Given the description of an element on the screen output the (x, y) to click on. 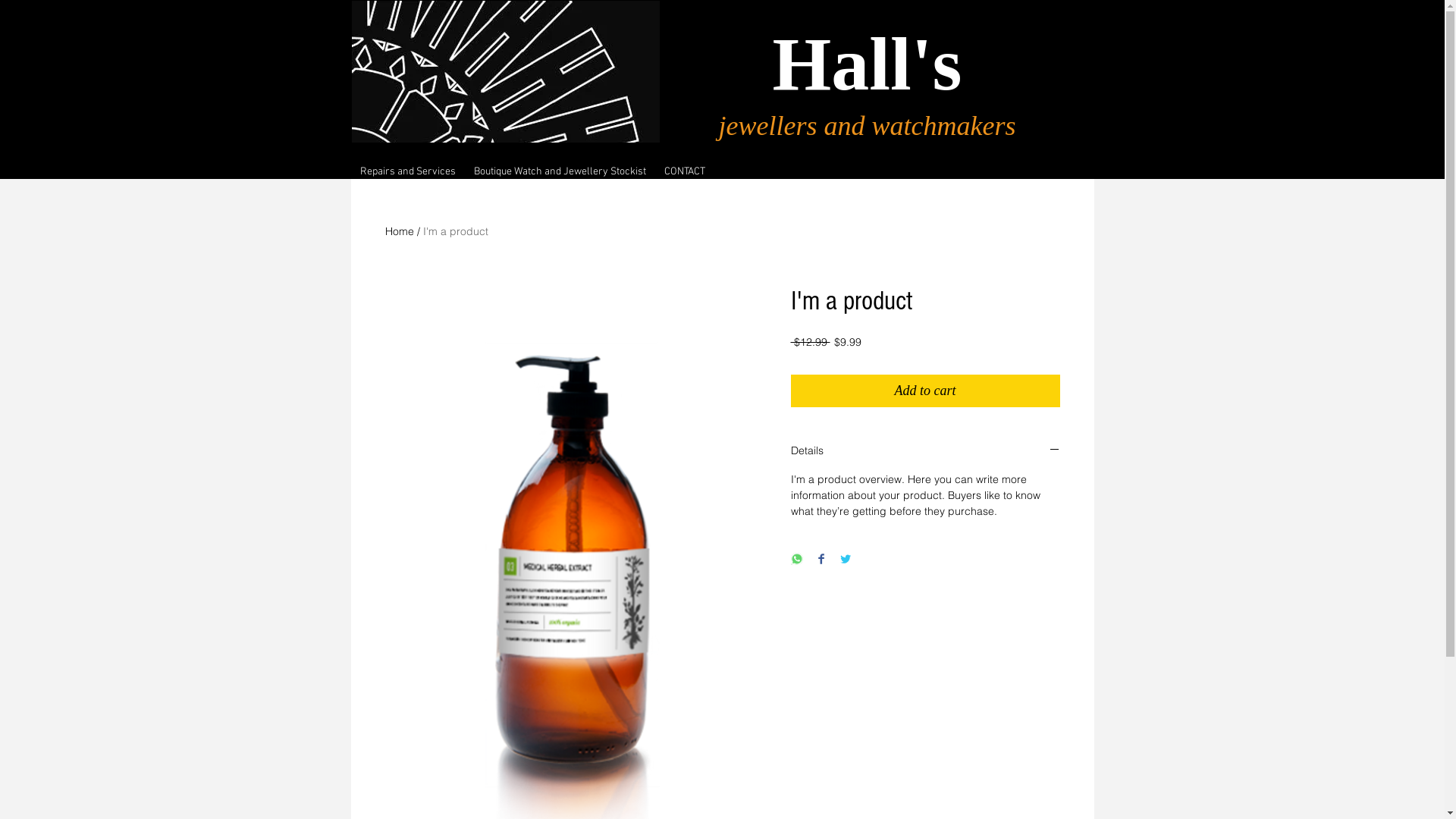
Details Element type: text (924, 451)
Boutique Watch and Jewellery Stockist Element type: text (560, 172)
I'm a product Element type: text (455, 231)
Home Element type: text (399, 231)
Repairs and Services Element type: text (408, 172)
Add to cart Element type: text (924, 390)
CONTACT Element type: text (684, 172)
